Given the description of an element on the screen output the (x, y) to click on. 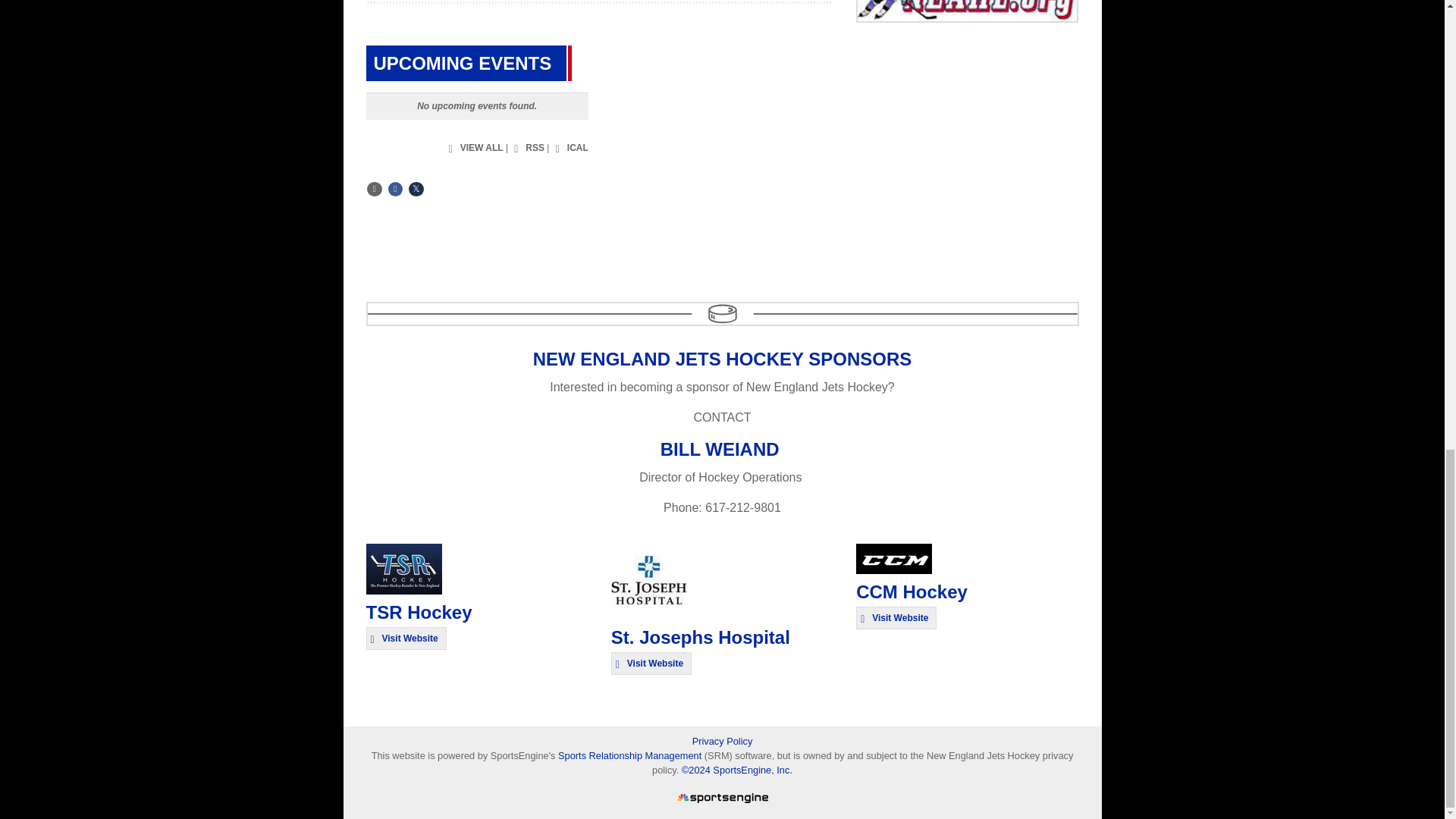
View All (474, 148)
VIEW ALL (474, 148)
RSS (527, 148)
Visit Website (651, 662)
ICAL (569, 148)
Visit Website (896, 617)
Visit Website (405, 638)
